Given the description of an element on the screen output the (x, y) to click on. 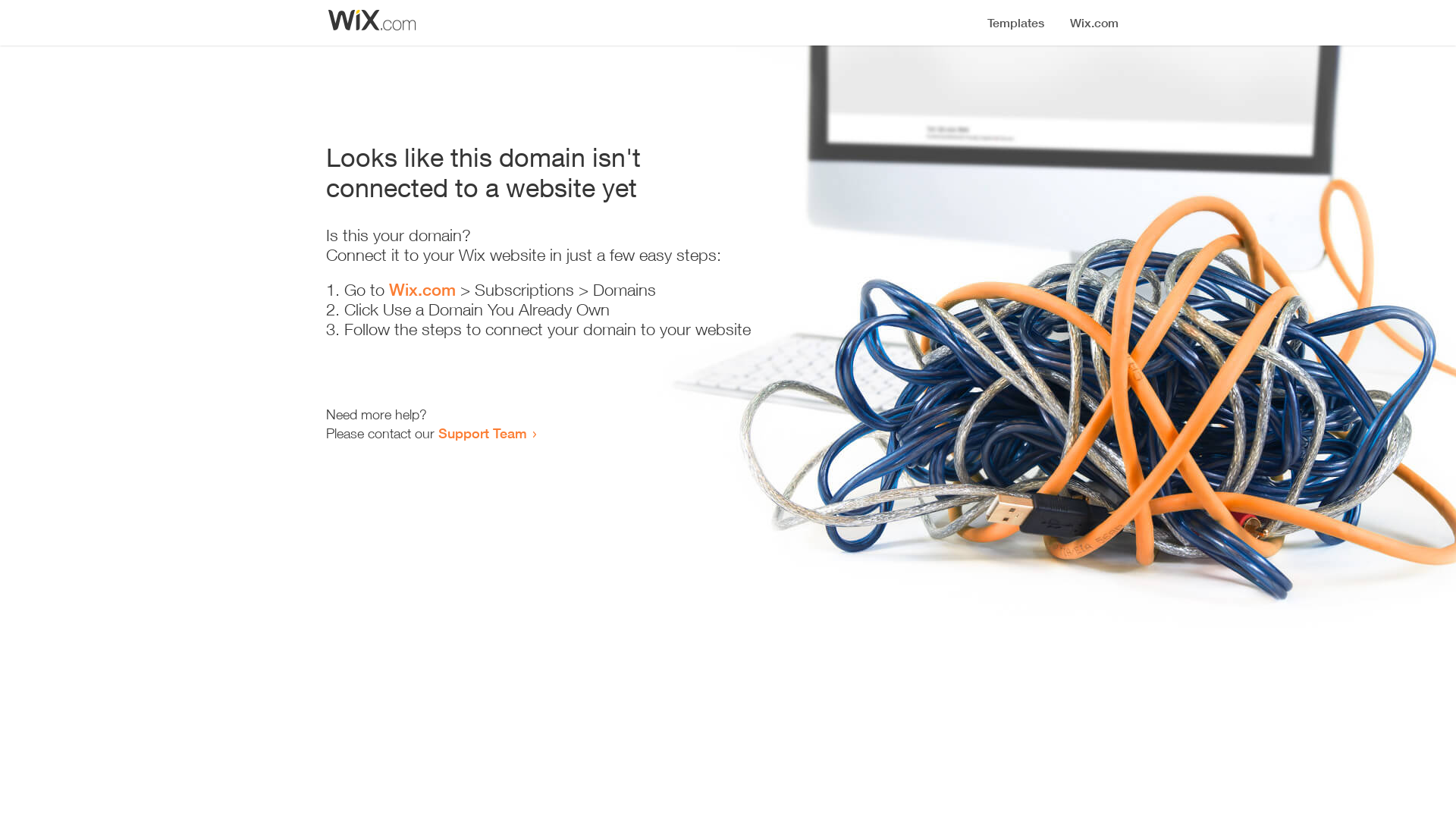
Wix.com Element type: text (422, 289)
Support Team Element type: text (482, 432)
